Given the description of an element on the screen output the (x, y) to click on. 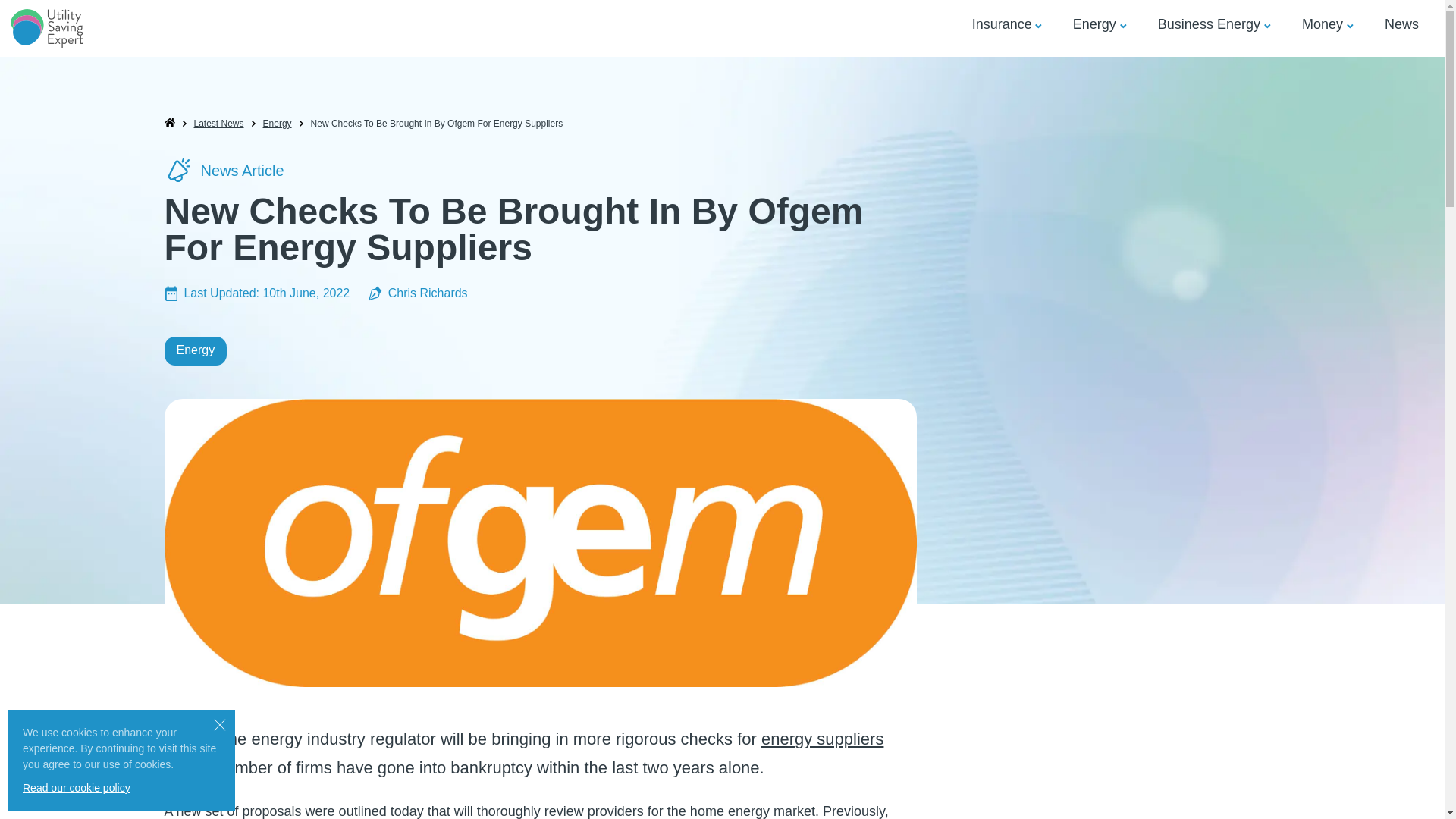
News (1401, 23)
Insurance (1002, 23)
Business Energy (1208, 23)
Money (1321, 23)
Energy (1094, 23)
News (1401, 23)
Business Energy (1208, 23)
Utility Saving Expert (46, 28)
Insurance (1002, 23)
Energy (1094, 23)
